Given the description of an element on the screen output the (x, y) to click on. 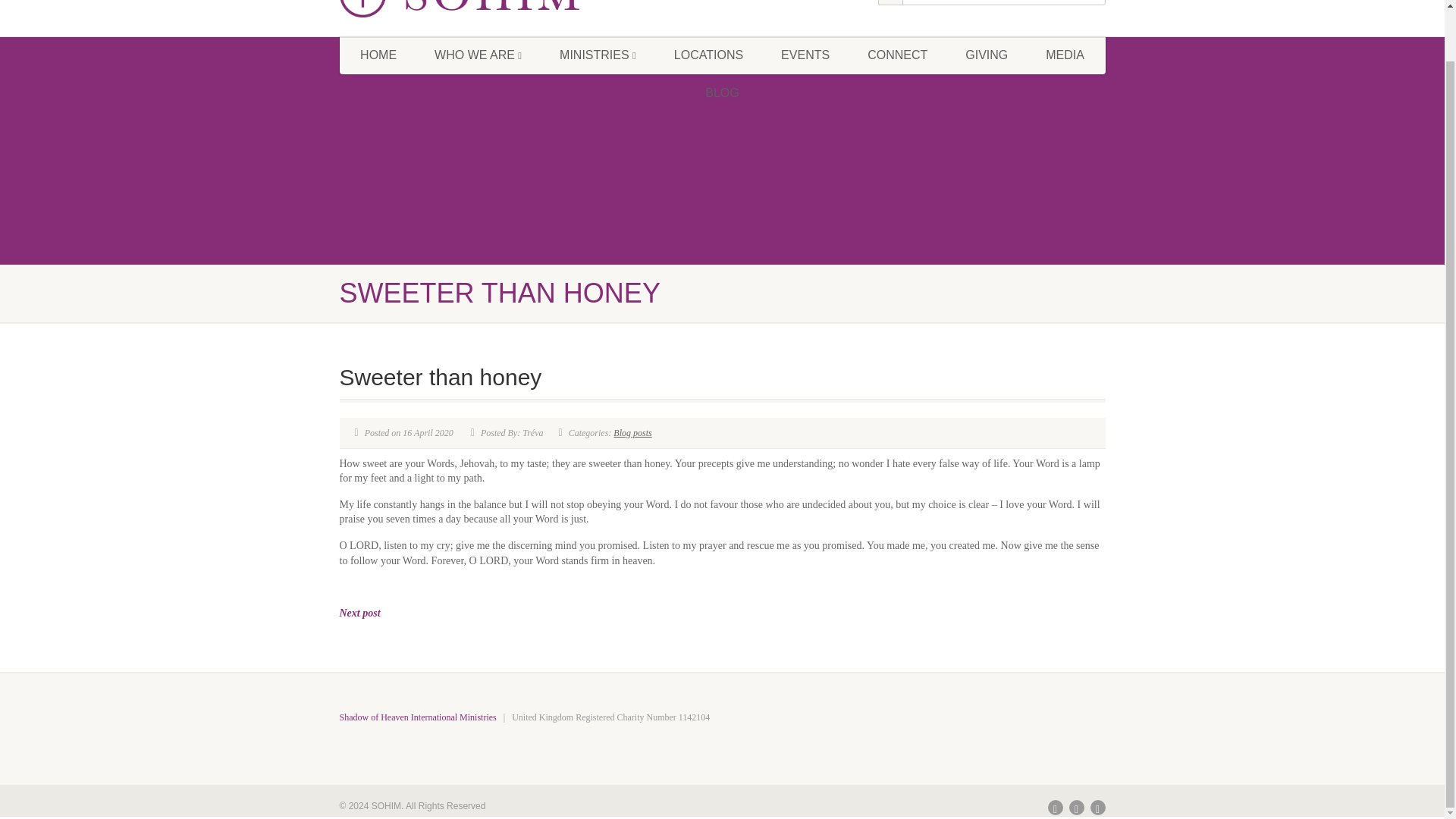
WHO WE ARE (477, 55)
Shadow of Heaven International Ministries (417, 716)
BLOG (721, 93)
Next post (359, 613)
HOME (377, 55)
MEDIA (1064, 55)
CONNECT (897, 55)
MINISTRIES (597, 55)
SOHIM (459, 9)
LOCATIONS (708, 55)
Blog posts (631, 432)
GIVING (986, 55)
EVENTS (804, 55)
